Given the description of an element on the screen output the (x, y) to click on. 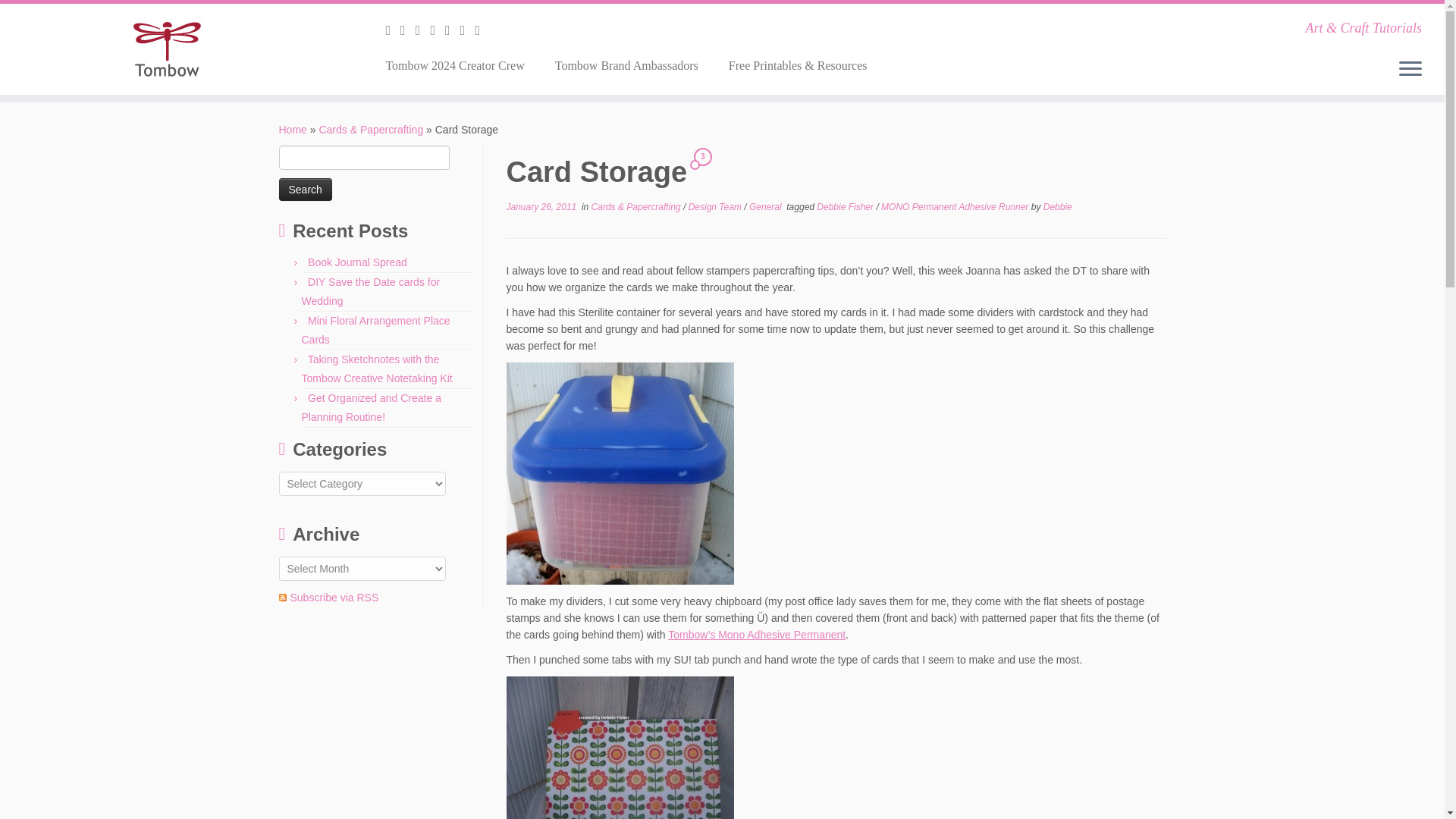
Follow me on Twitter (407, 29)
January 26, 2011 (541, 206)
Search (305, 189)
Design Team (716, 206)
Debbie Fisher (846, 206)
Pin me on Pinterest (481, 29)
Follow me on Youtube (468, 29)
Tombow USA Blog (293, 129)
Debbie (1057, 206)
Taking Sketchnotes with the Tombow Creative Notetaking Kit (376, 368)
